Given the description of an element on the screen output the (x, y) to click on. 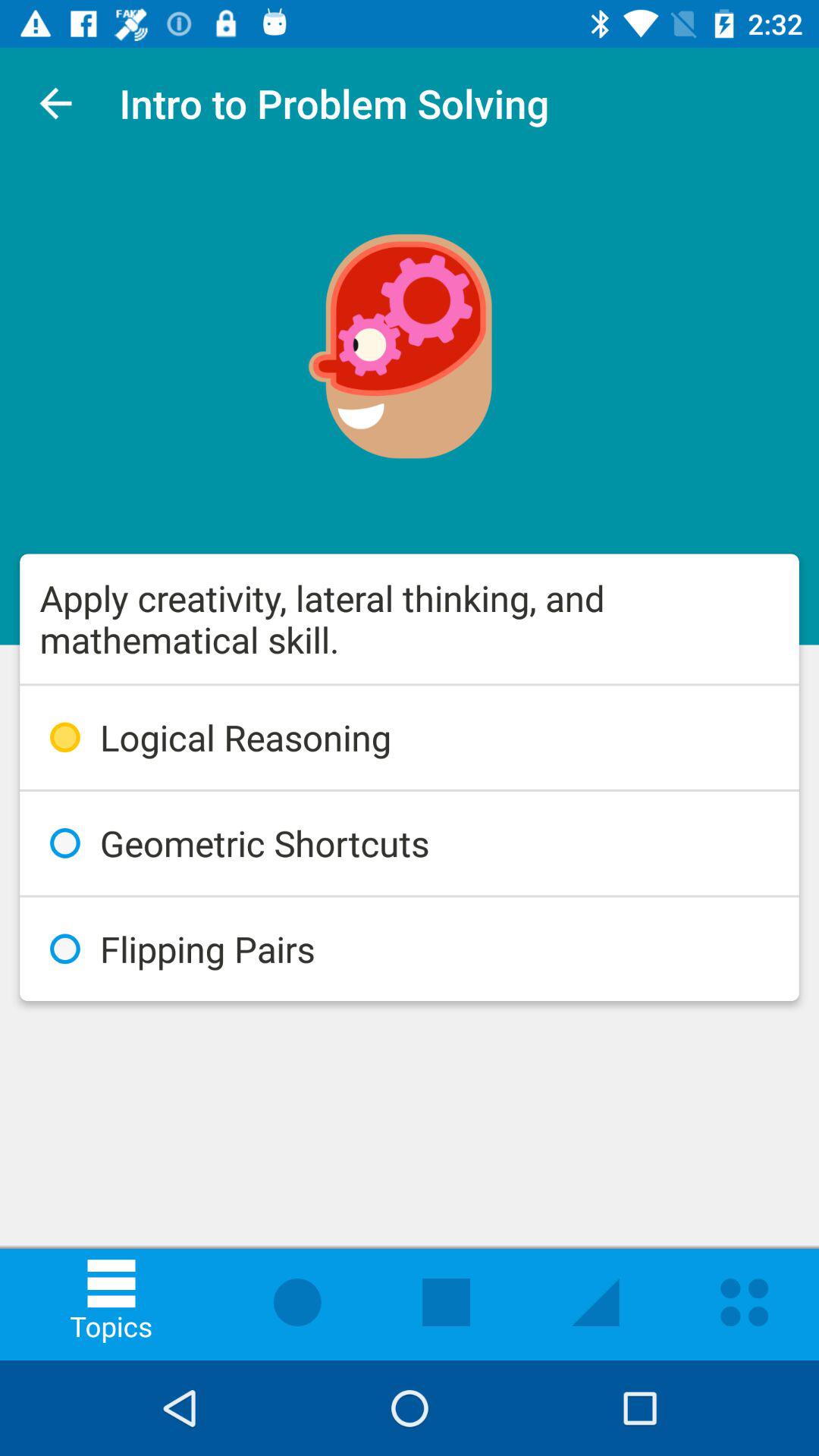
choose flipping pairs item (409, 949)
